Given the description of an element on the screen output the (x, y) to click on. 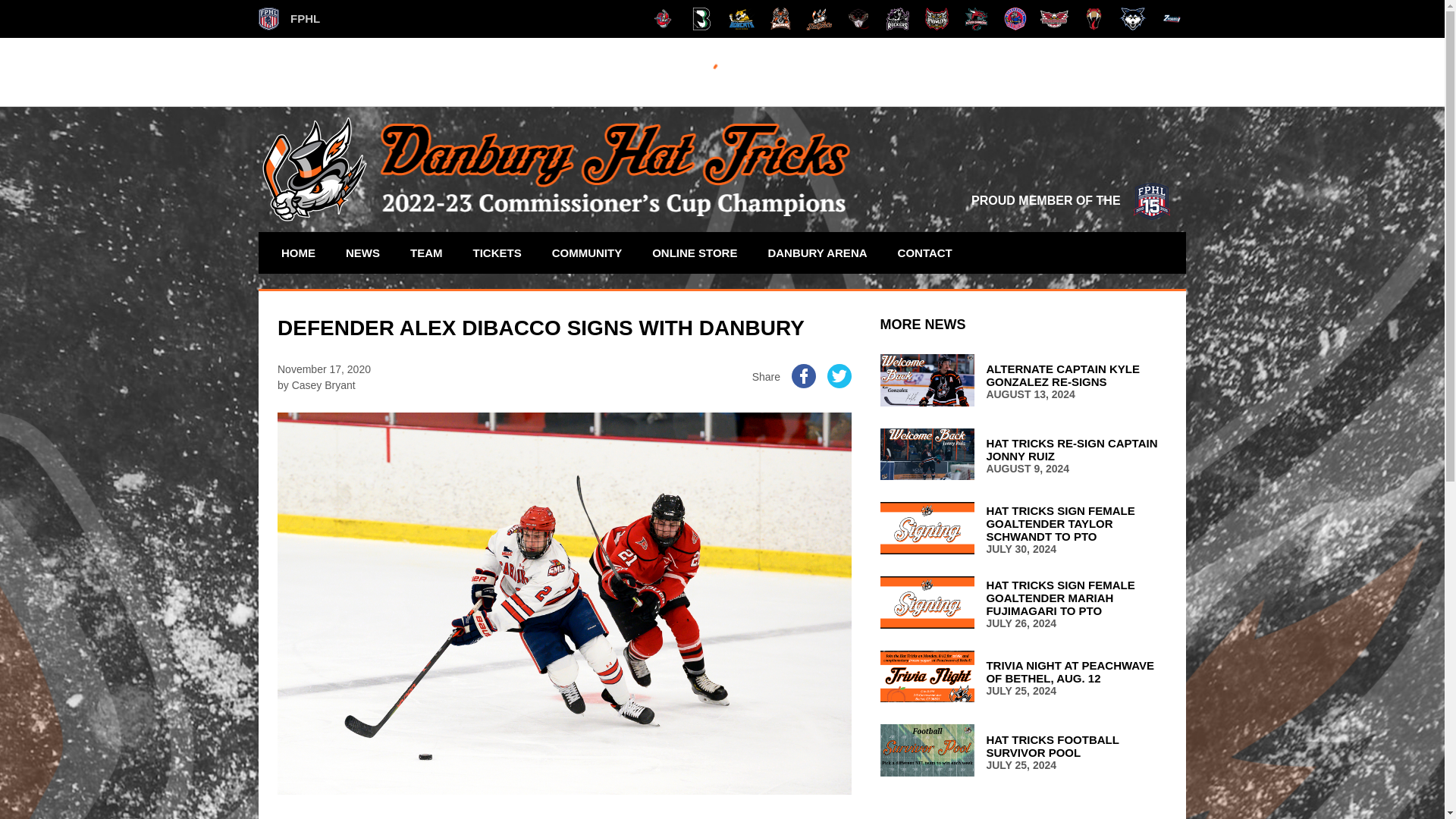
PROUD MEMBER OF THE (1070, 200)
HOME (297, 252)
NEWS (362, 252)
FPHL (289, 18)
